Given the description of an element on the screen output the (x, y) to click on. 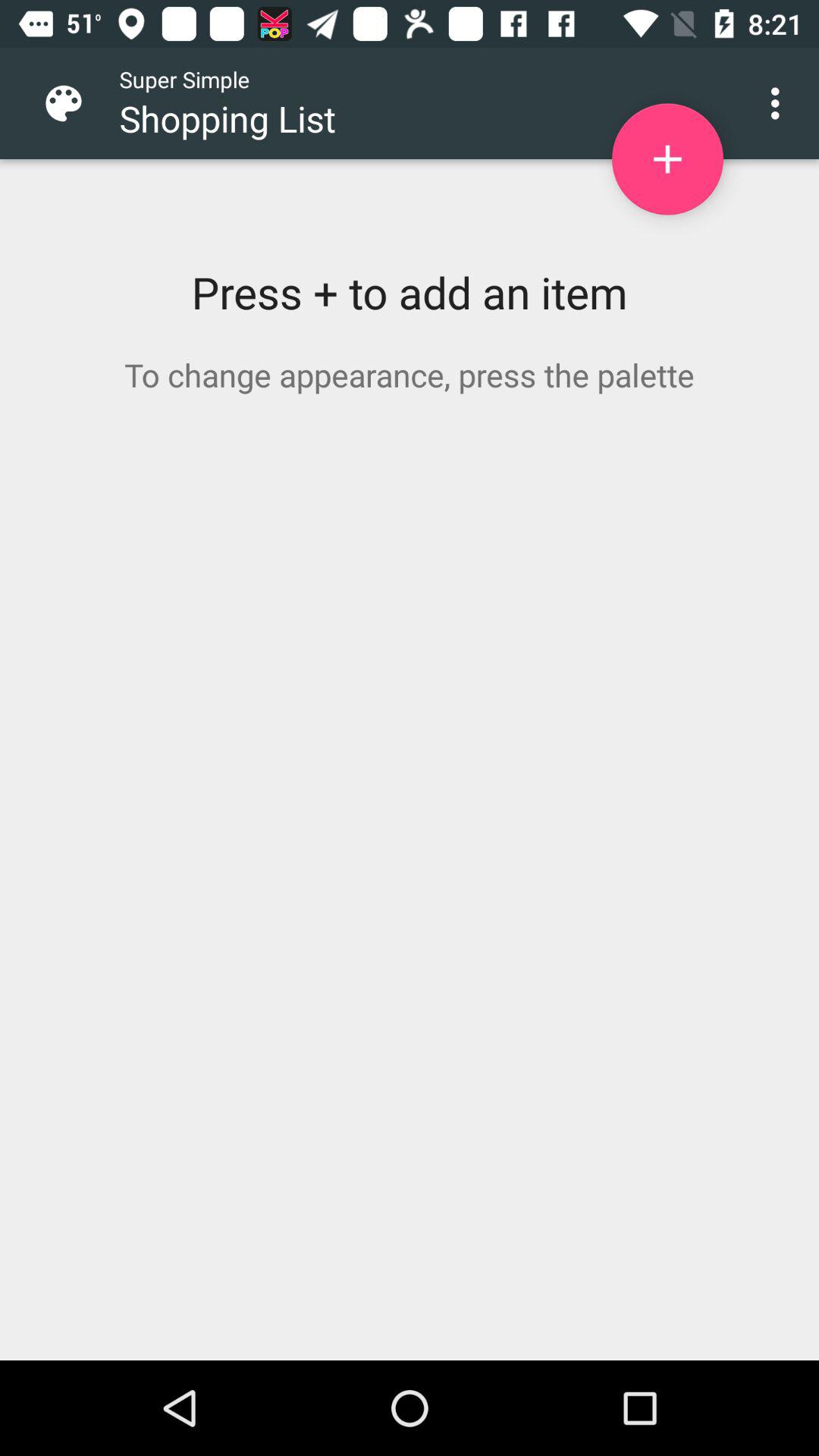
open categories (75, 103)
